Given the description of an element on the screen output the (x, y) to click on. 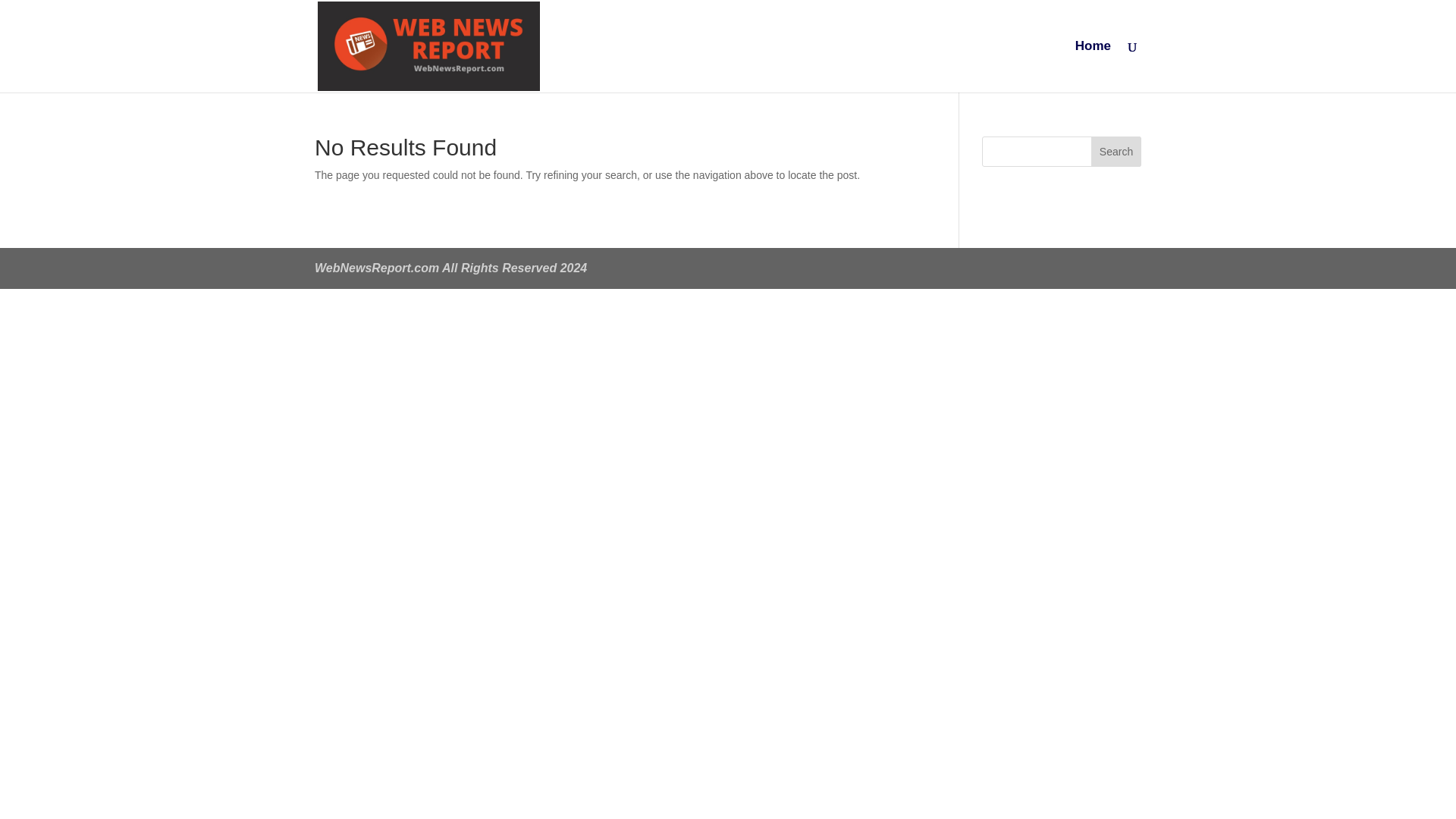
Search (1115, 151)
Search (1115, 151)
